Given the description of an element on the screen output the (x, y) to click on. 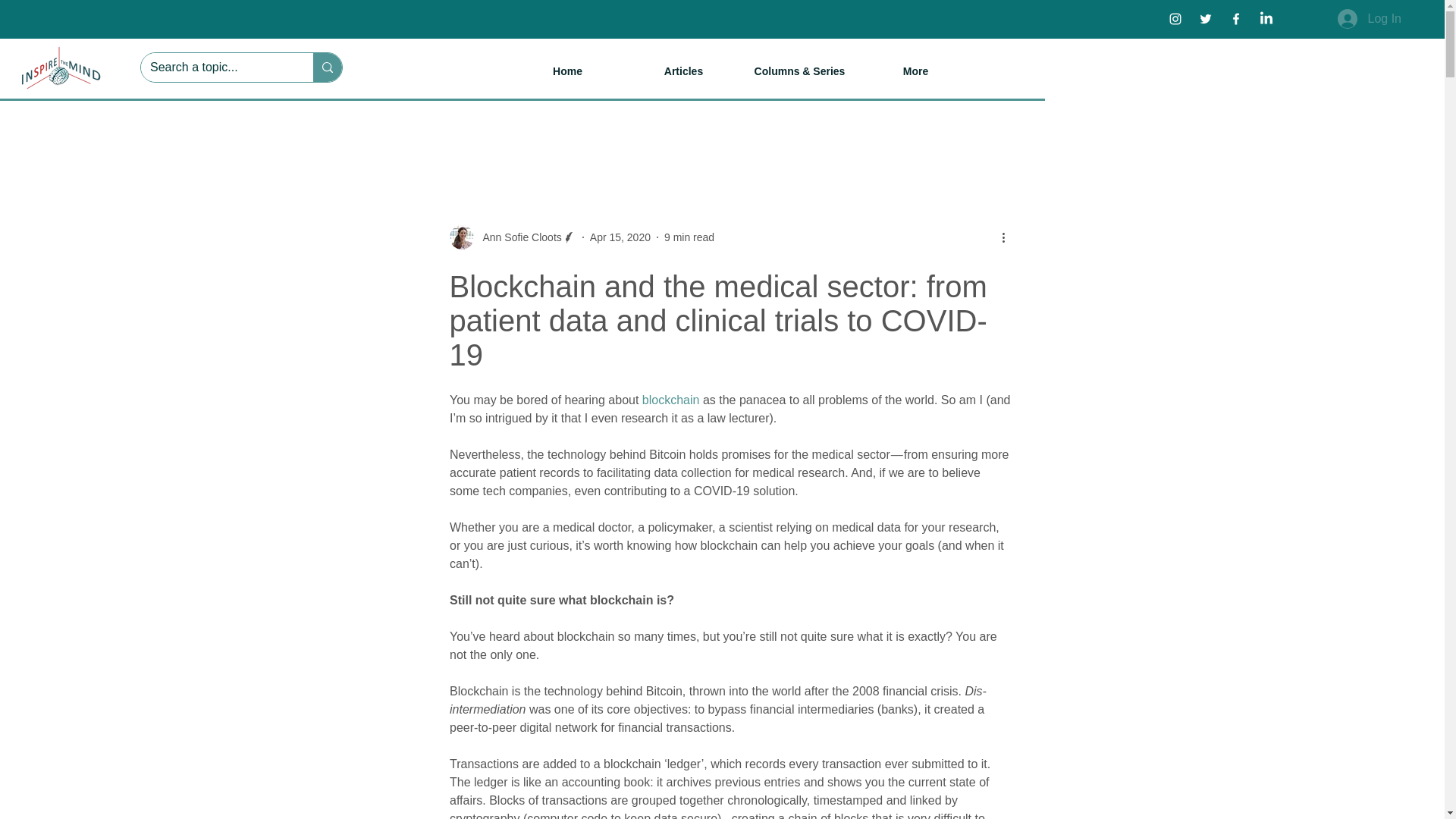
Ann Sofie Cloots (511, 237)
Ann Sofie Cloots (516, 236)
Home (567, 71)
Log In (1369, 18)
9 min read (688, 236)
Apr 15, 2020 (619, 236)
blockchain (670, 399)
Articles (683, 71)
